Given the description of an element on the screen output the (x, y) to click on. 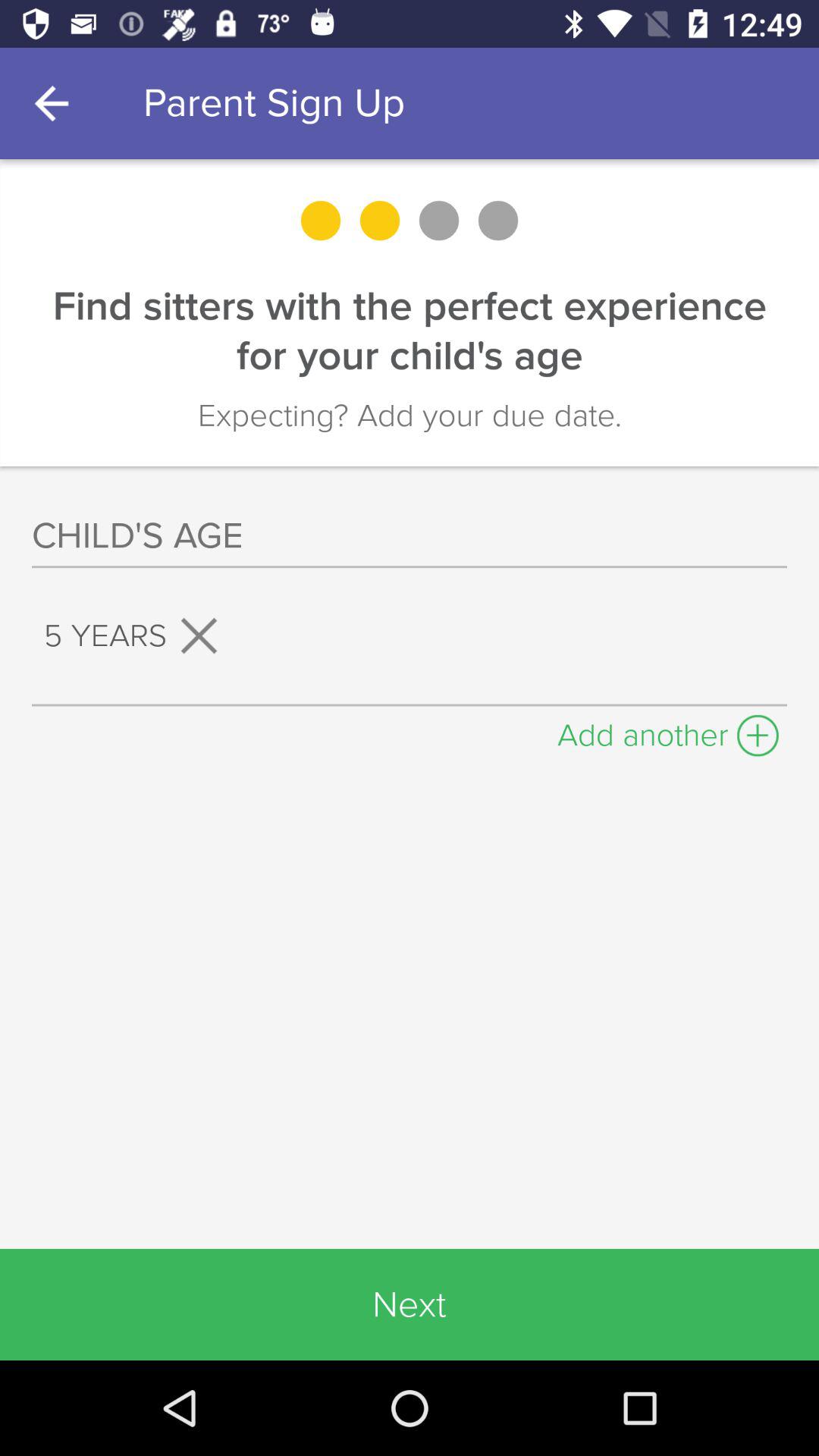
swipe to add another icon (668, 731)
